Given the description of an element on the screen output the (x, y) to click on. 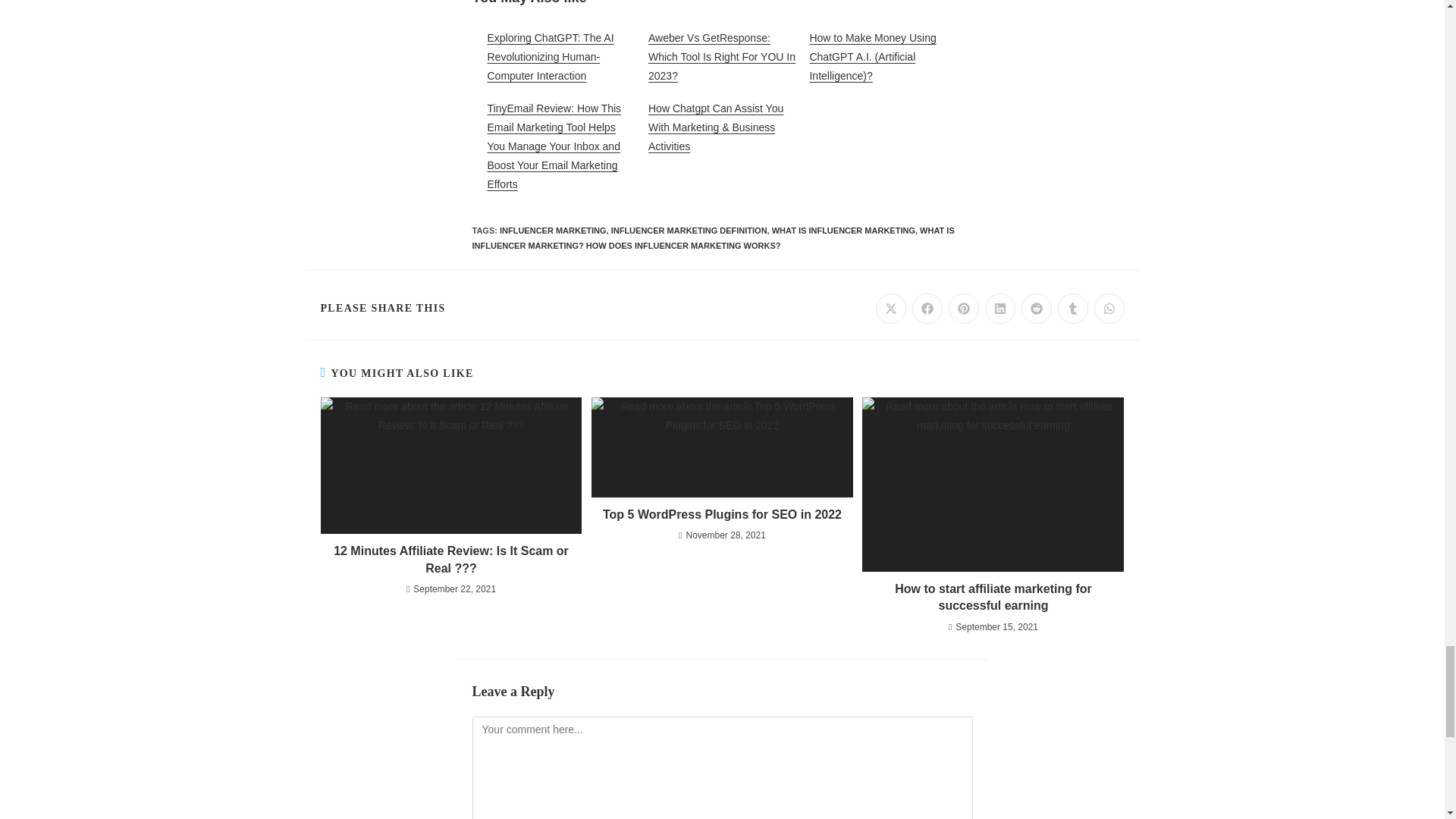
INFLUENCER MARKETING (553, 230)
Aweber Vs GetResponse: Which Tool Is Right For YOU In 2023? (720, 56)
WHAT IS INFLUENCER MARKETING (843, 230)
INFLUENCER MARKETING DEFINITION (689, 230)
